Given the description of an element on the screen output the (x, y) to click on. 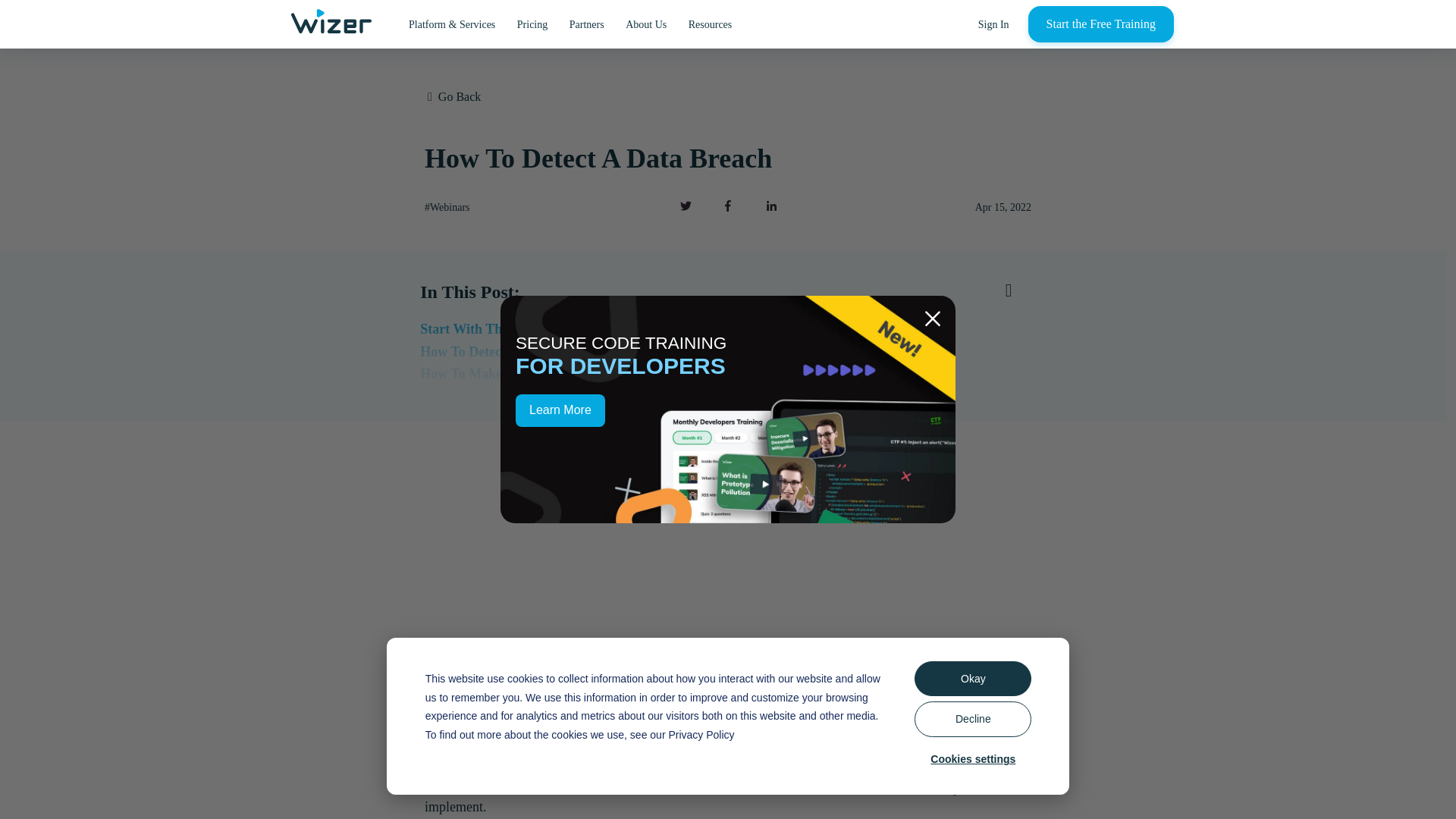
Resources (710, 24)
Partners (586, 24)
Share this blog post on Twitter (684, 205)
Pricing (532, 24)
Popup CTA (727, 409)
YouTube video player (727, 601)
About Us (645, 24)
